Given the description of an element on the screen output the (x, y) to click on. 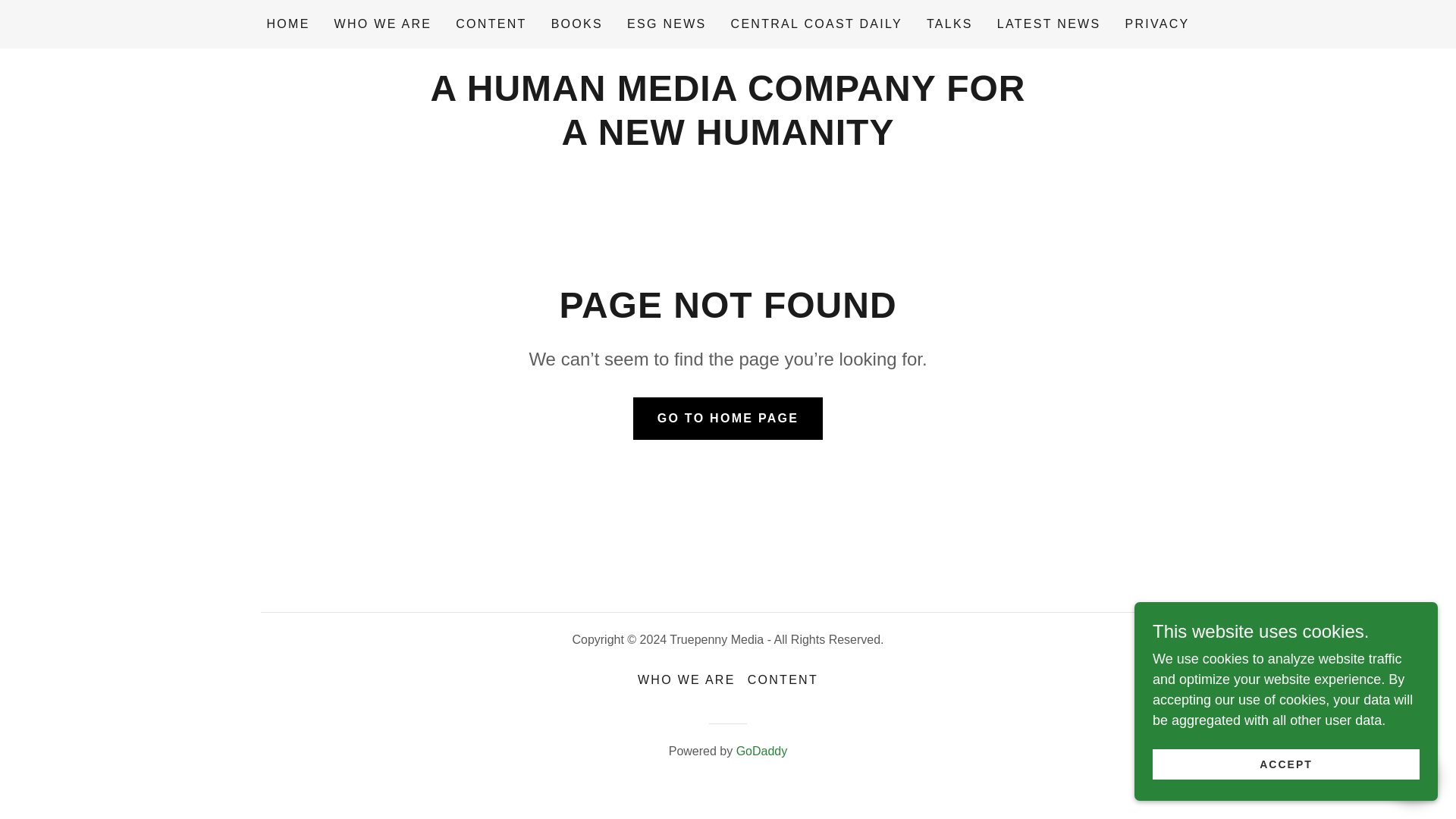
CENTRAL COAST DAILY (816, 23)
A HUMAN MEDIA COMPANY FOR A NEW HUMANITY (727, 140)
LATEST NEWS (1048, 23)
A HUMAN MEDIA COMPANY FOR A NEW HUMANITY (727, 140)
GO TO HOME PAGE (728, 418)
CONTENT (782, 679)
GoDaddy (761, 750)
ESG NEWS (667, 23)
ACCEPT (1286, 764)
WHO WE ARE (383, 23)
PRIVACY (1156, 23)
CONTENT (491, 23)
BOOKS (577, 23)
WHO WE ARE (686, 679)
HOME (288, 23)
